Given the description of an element on the screen output the (x, y) to click on. 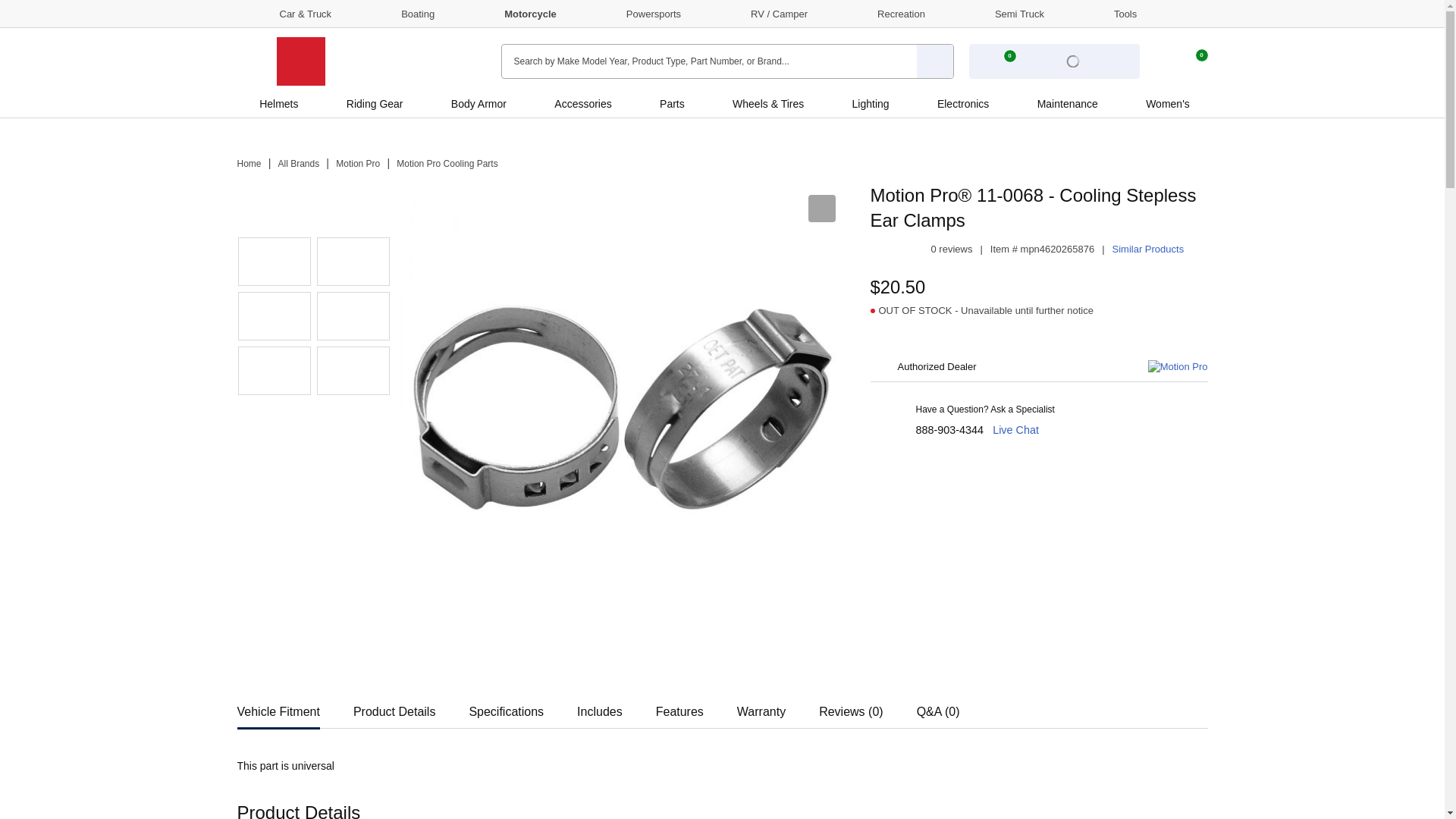
Warranty (761, 706)
All Brands (299, 163)
Tools (1111, 13)
Motion Pro Authorized Dealer (353, 370)
Product Details (394, 706)
Specifications (505, 706)
Accessories (582, 103)
Vehicle Fitment (276, 706)
Home (247, 163)
Lighting (870, 103)
Semi Truck (1005, 13)
Parts (672, 103)
Motion Pro Cooling Parts (446, 163)
Boating (403, 13)
Body Armor (478, 103)
